Given the description of an element on the screen output the (x, y) to click on. 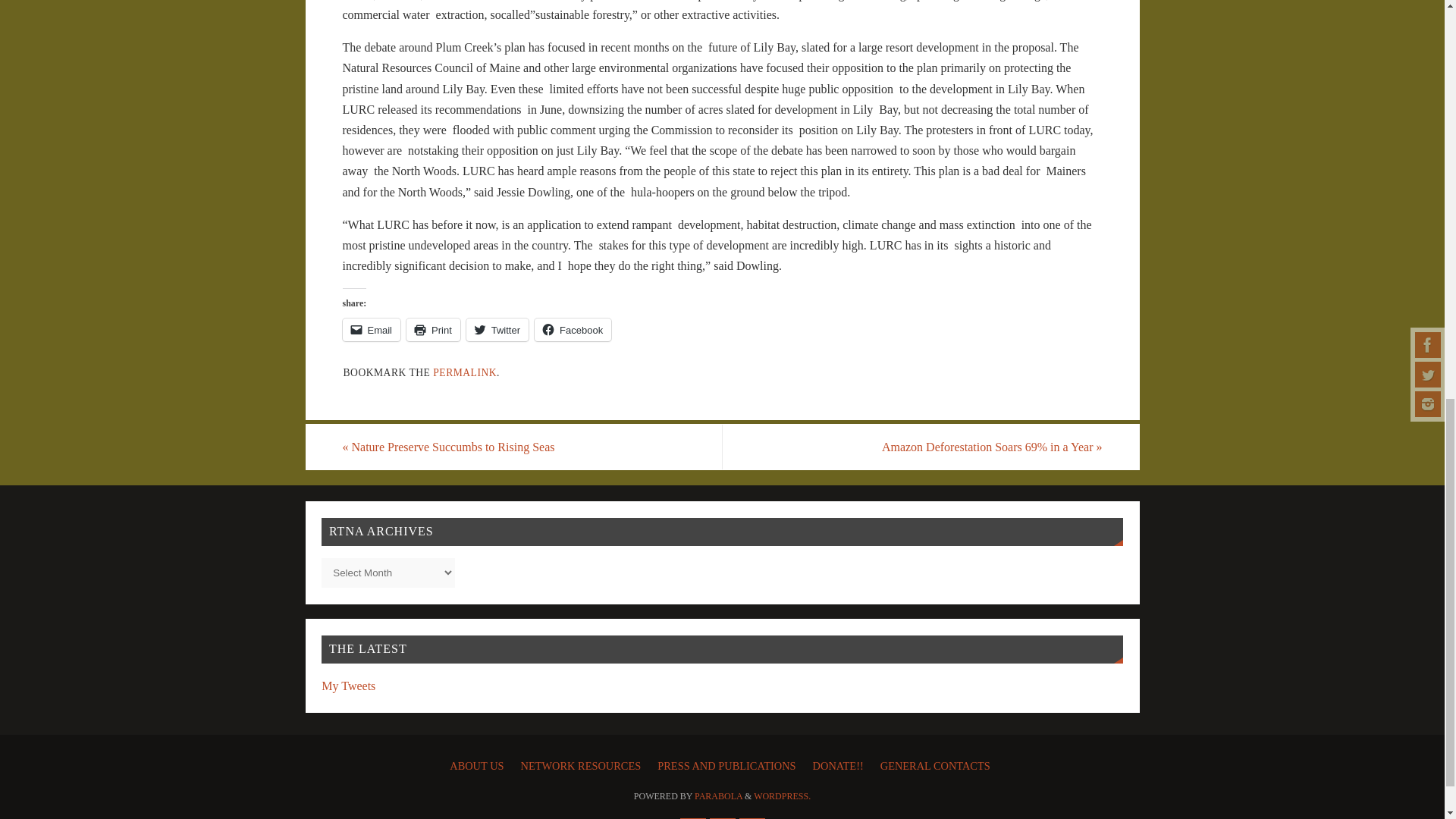
Click to print (433, 329)
Parabola Theme by Cryout Creations (718, 796)
Semantic Personal Publishing Platform (782, 796)
Click to share on Facebook (572, 329)
Click to share on Twitter (496, 329)
Click to email a link to a friend (371, 329)
